Given the description of an element on the screen output the (x, y) to click on. 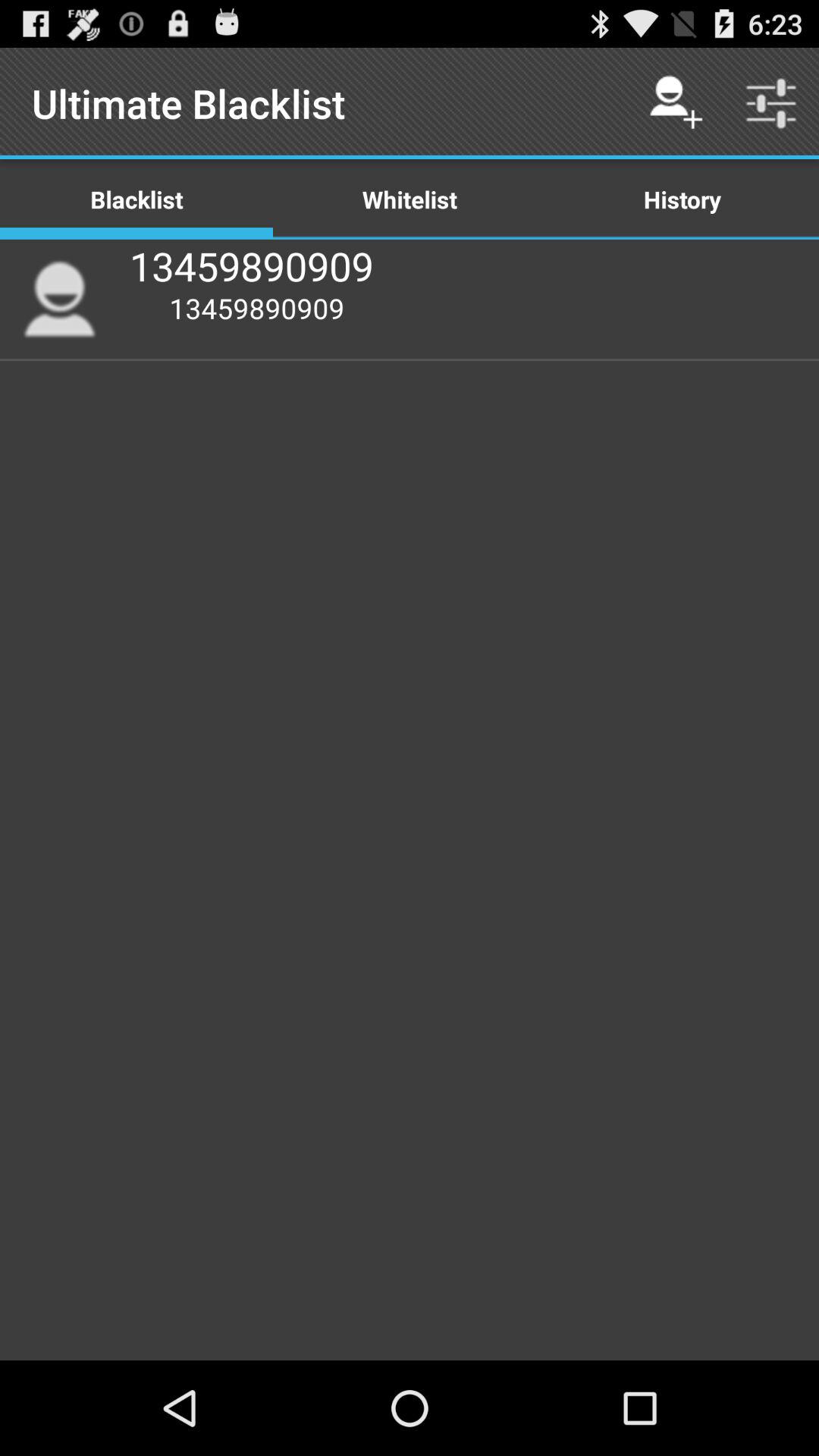
select the icon above the history icon (771, 103)
